Given the description of an element on the screen output the (x, y) to click on. 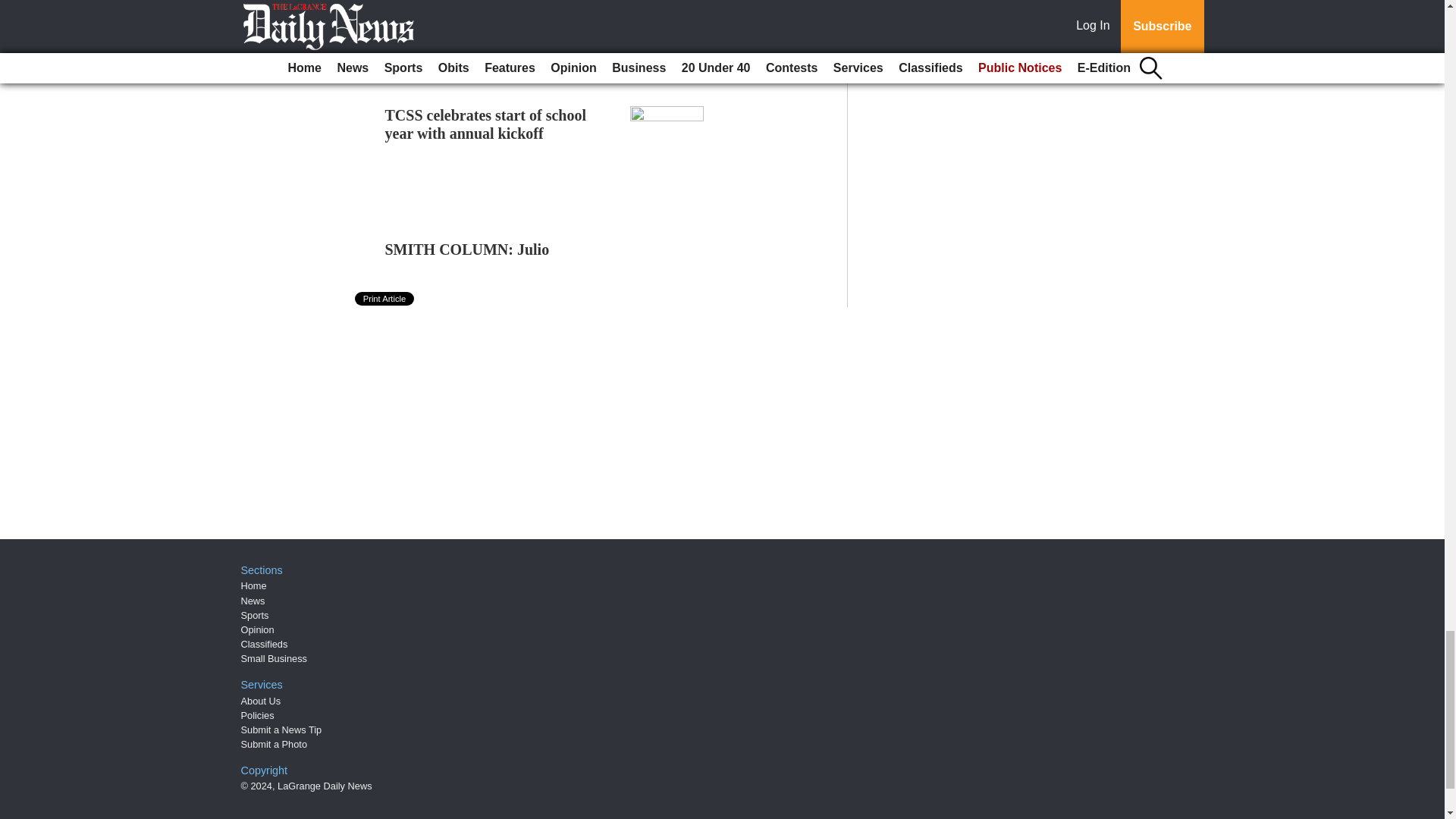
SMITH COLUMN: Julio (467, 248)
SMITH COLUMN: Julio (467, 248)
TCSS celebrates start of school year with annual kickoff (485, 124)
TCSS celebrates start of school year with annual kickoff (485, 124)
Print Article (384, 298)
